Given the description of an element on the screen output the (x, y) to click on. 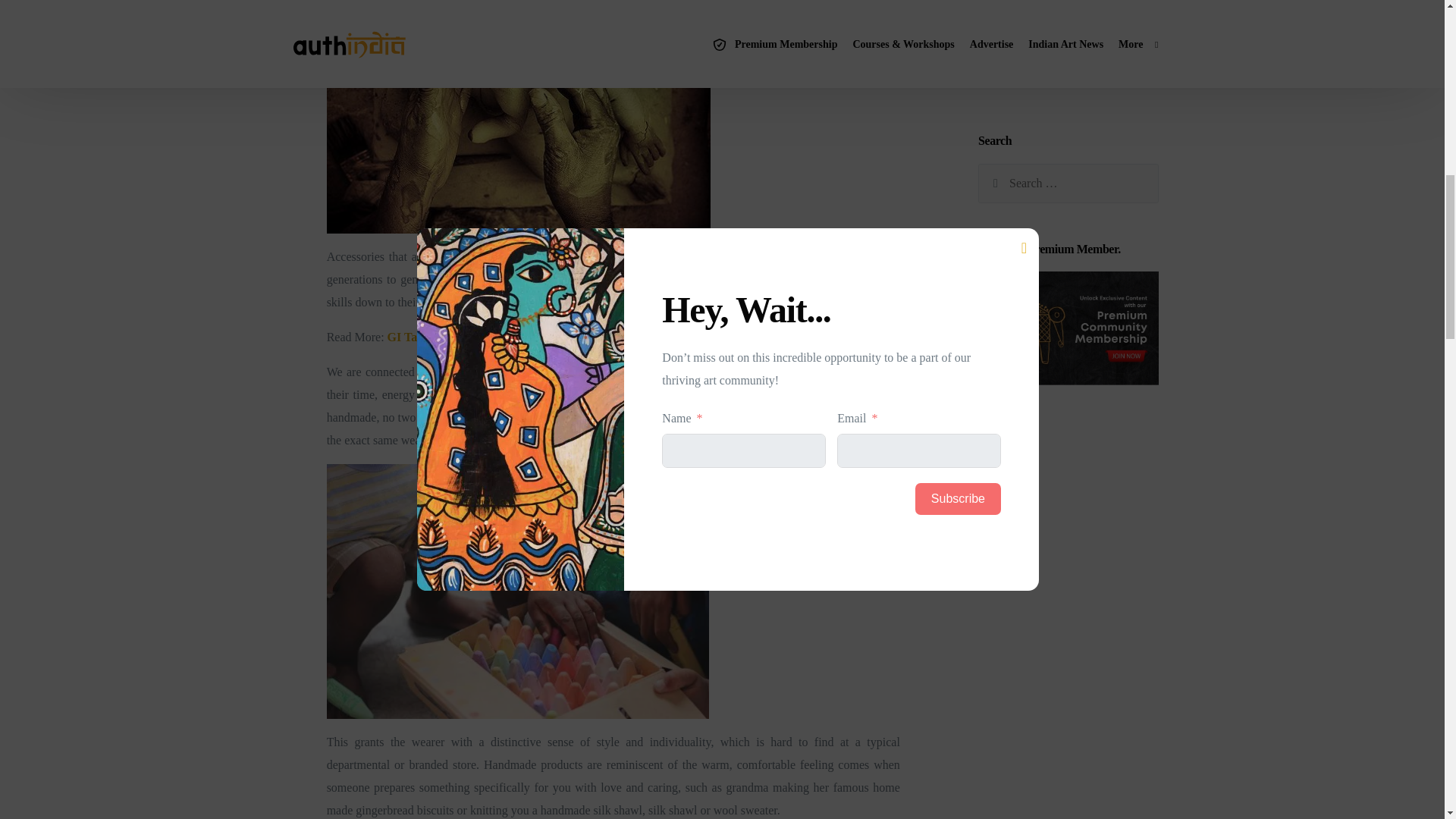
GI Tag of Handicrafts of India (465, 336)
Advertisement (1068, 405)
